Given the description of an element on the screen output the (x, y) to click on. 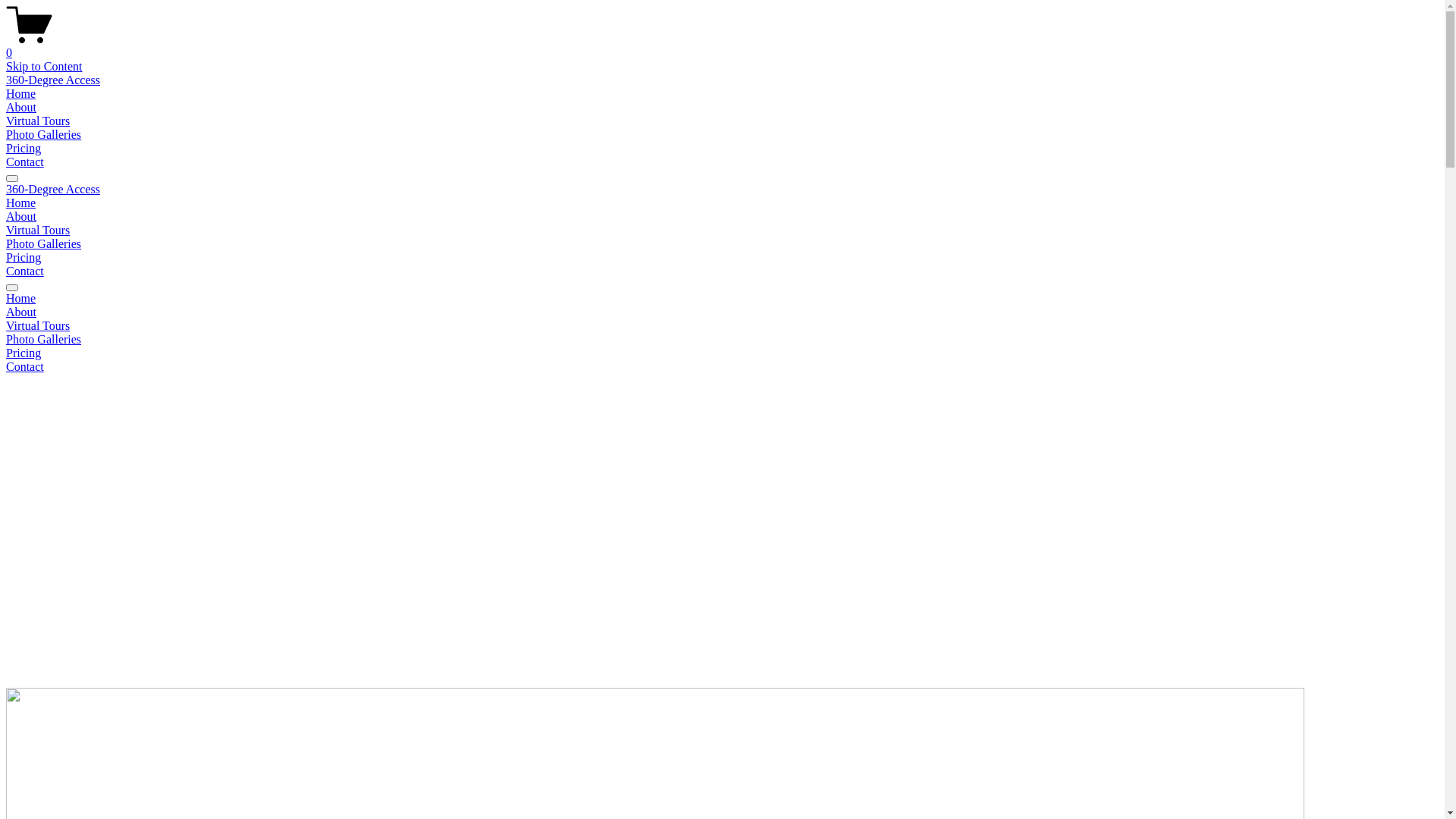
360-Degree Access Element type: text (53, 188)
360-Degree Access Element type: text (53, 79)
Home Element type: text (20, 93)
Contact Element type: text (24, 270)
About Element type: text (722, 312)
Skip to Content Element type: text (43, 65)
About Element type: text (21, 216)
0 Element type: text (722, 45)
About Element type: text (21, 106)
Photo Galleries Element type: text (43, 243)
Contact Element type: text (722, 366)
Pricing Element type: text (23, 257)
Contact Element type: text (24, 161)
Photo Galleries Element type: text (722, 339)
Pricing Element type: text (23, 147)
Photo Galleries Element type: text (43, 134)
Home Element type: text (722, 298)
Virtual Tours Element type: text (722, 325)
Pricing Element type: text (722, 353)
Virtual Tours Element type: text (37, 120)
Home Element type: text (20, 202)
Virtual Tours Element type: text (37, 229)
